Given the description of an element on the screen output the (x, y) to click on. 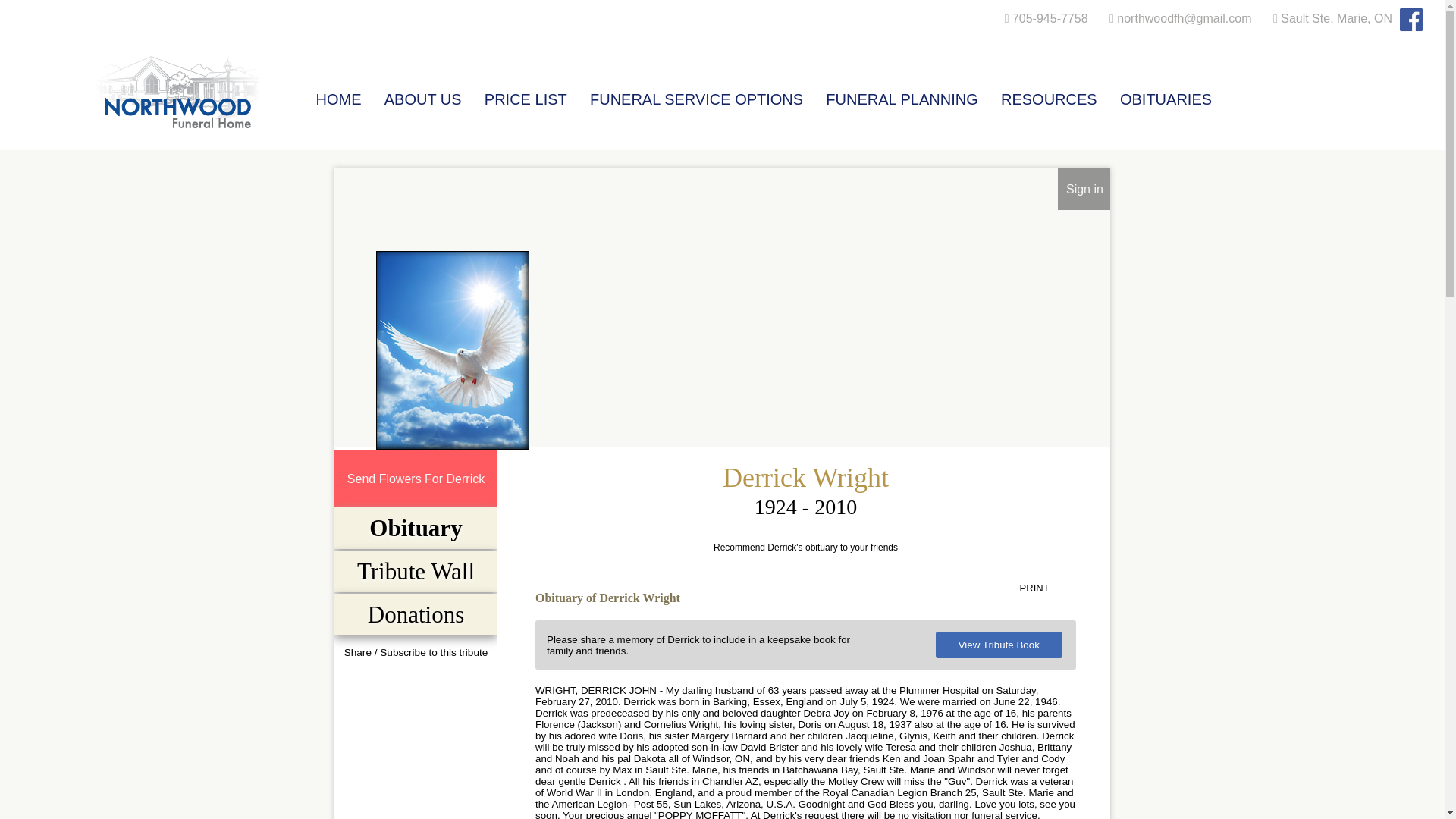
Print (1045, 588)
RESOURCES (1049, 93)
Tribute Wall (415, 570)
PRICE LIST (526, 93)
HOME (338, 93)
Send Flowers For Derrick (415, 478)
Twitter (415, 681)
FUNERAL SERVICE OPTIONS (696, 93)
Obituary (415, 528)
Donations (415, 614)
